Given the description of an element on the screen output the (x, y) to click on. 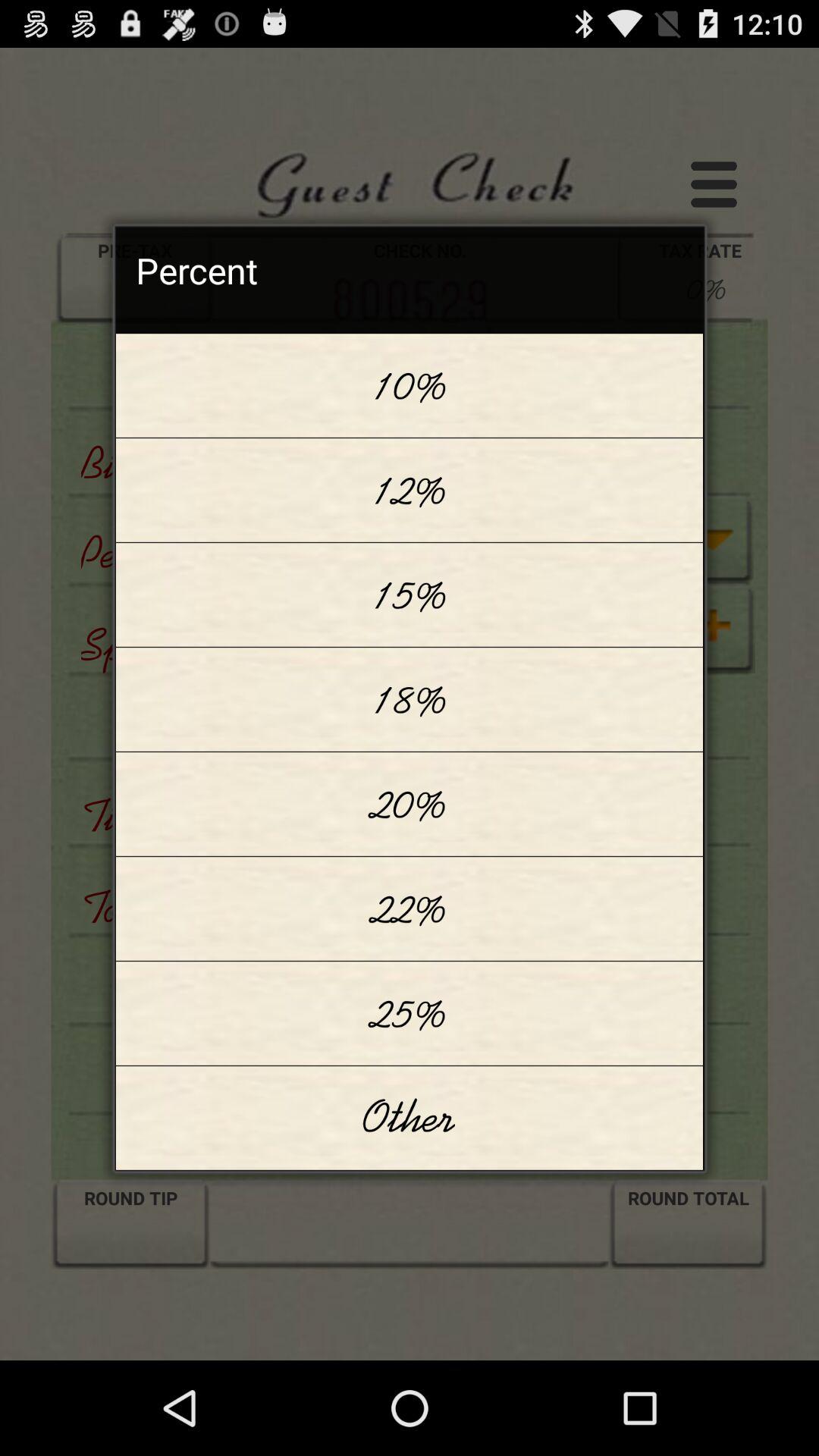
press the 22% icon (409, 908)
